Given the description of an element on the screen output the (x, y) to click on. 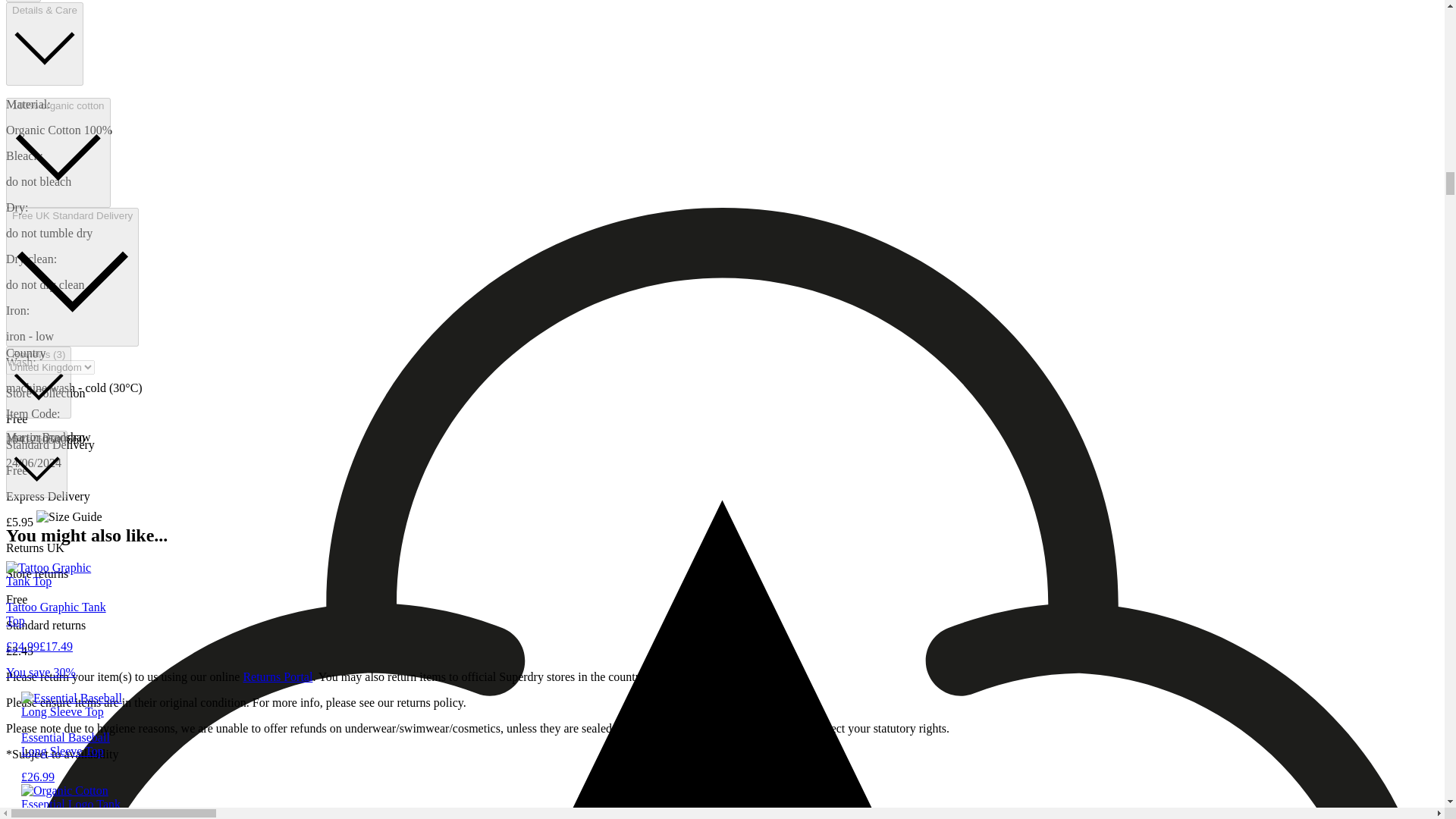
Free UK Standard Delivery (71, 277)
Size Guide (35, 463)
more (22, 1)
Tattoo Graphic Tank Top (58, 626)
Essential Baseball Long Sleeve Top (74, 756)
Returns Portal (278, 676)
